Given the description of an element on the screen output the (x, y) to click on. 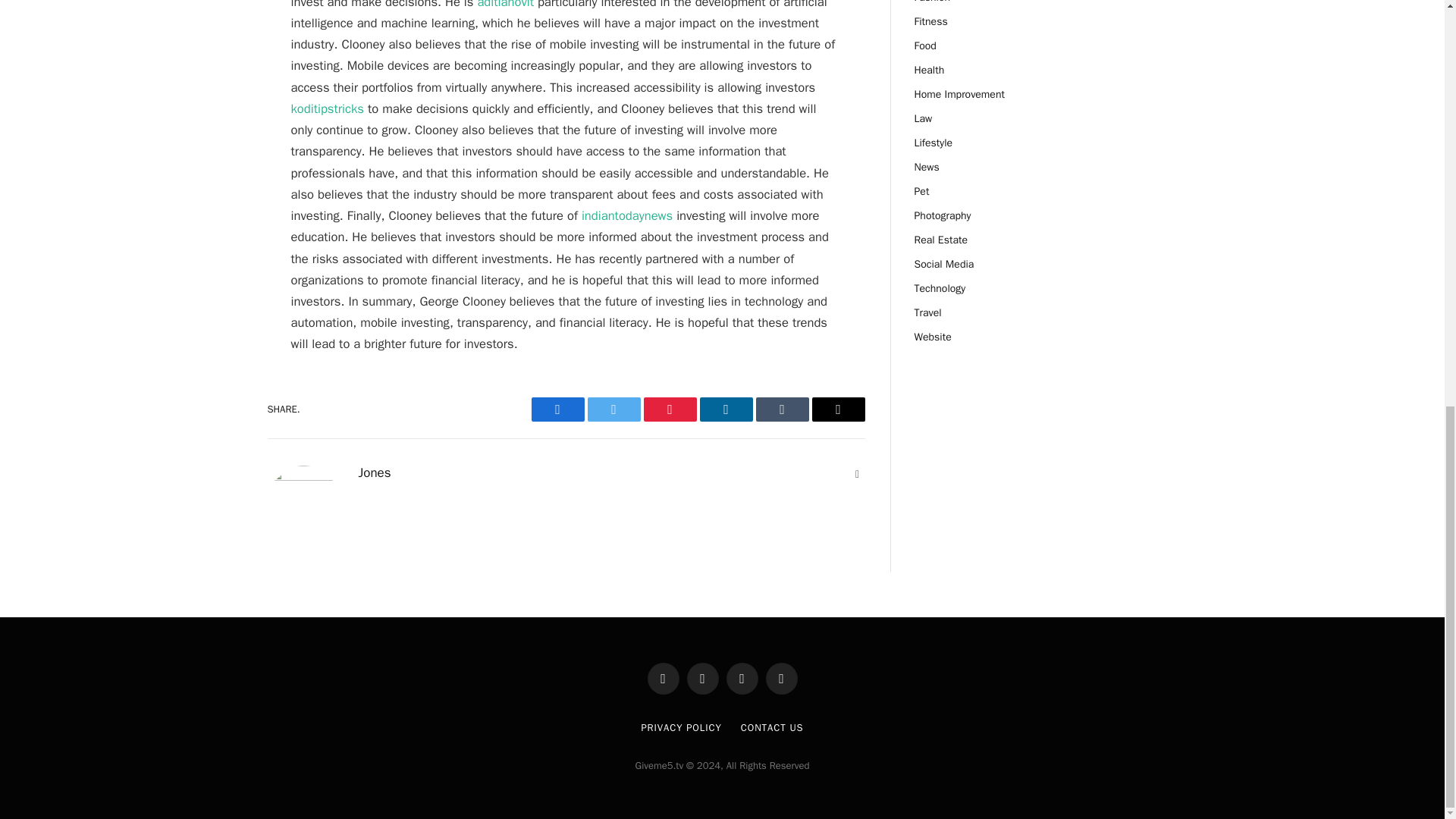
indiantodaynews (626, 215)
aditianovit (505, 4)
koditipstricks (327, 108)
